Given the description of an element on the screen output the (x, y) to click on. 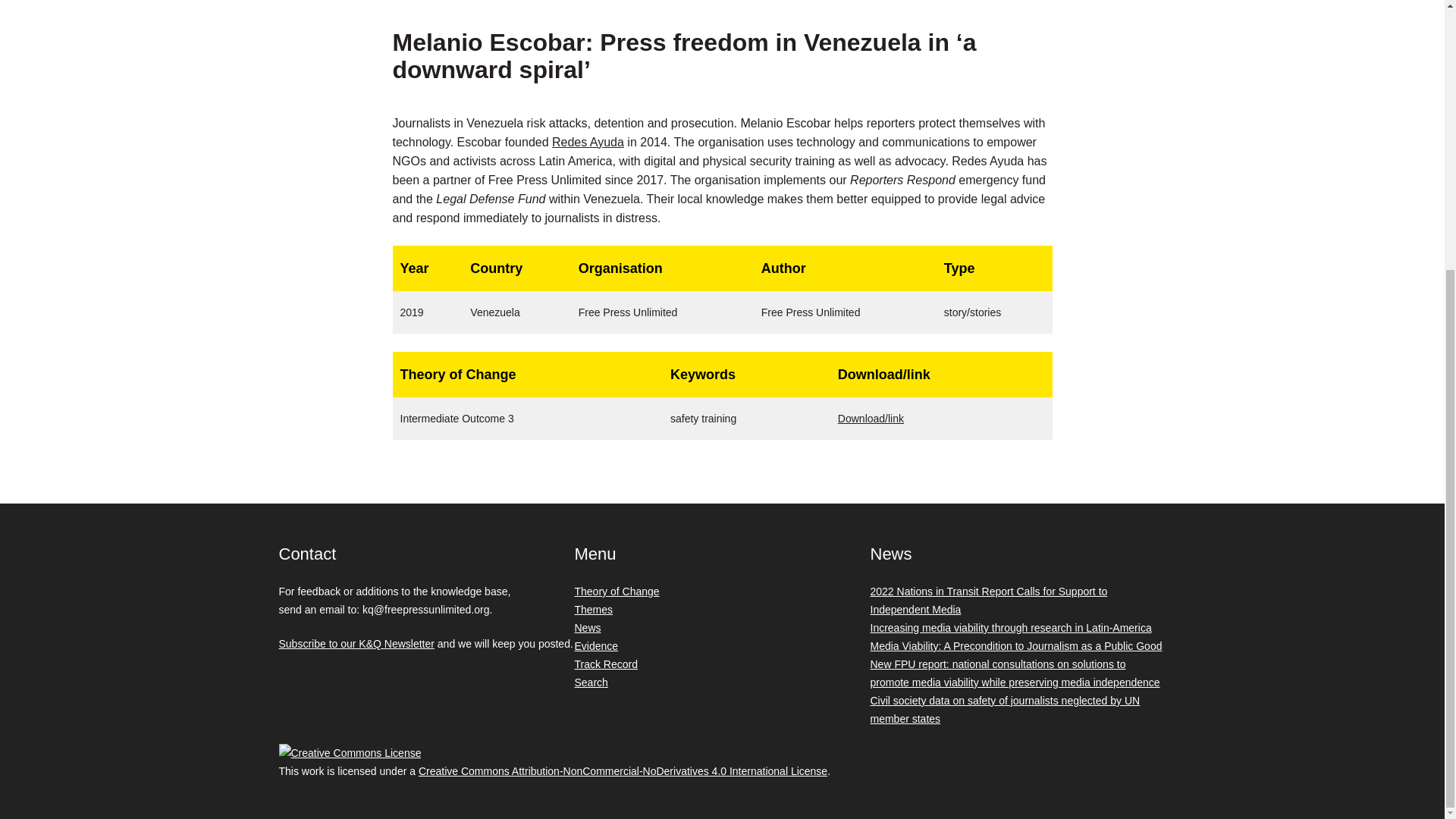
Redes Ayuda (587, 141)
Track Record (607, 664)
Themes (593, 609)
Search (591, 682)
Increasing media viability through research in Latin-America (1010, 627)
Theory of Change (617, 591)
Evidence (596, 645)
News (588, 627)
